Given the description of an element on the screen output the (x, y) to click on. 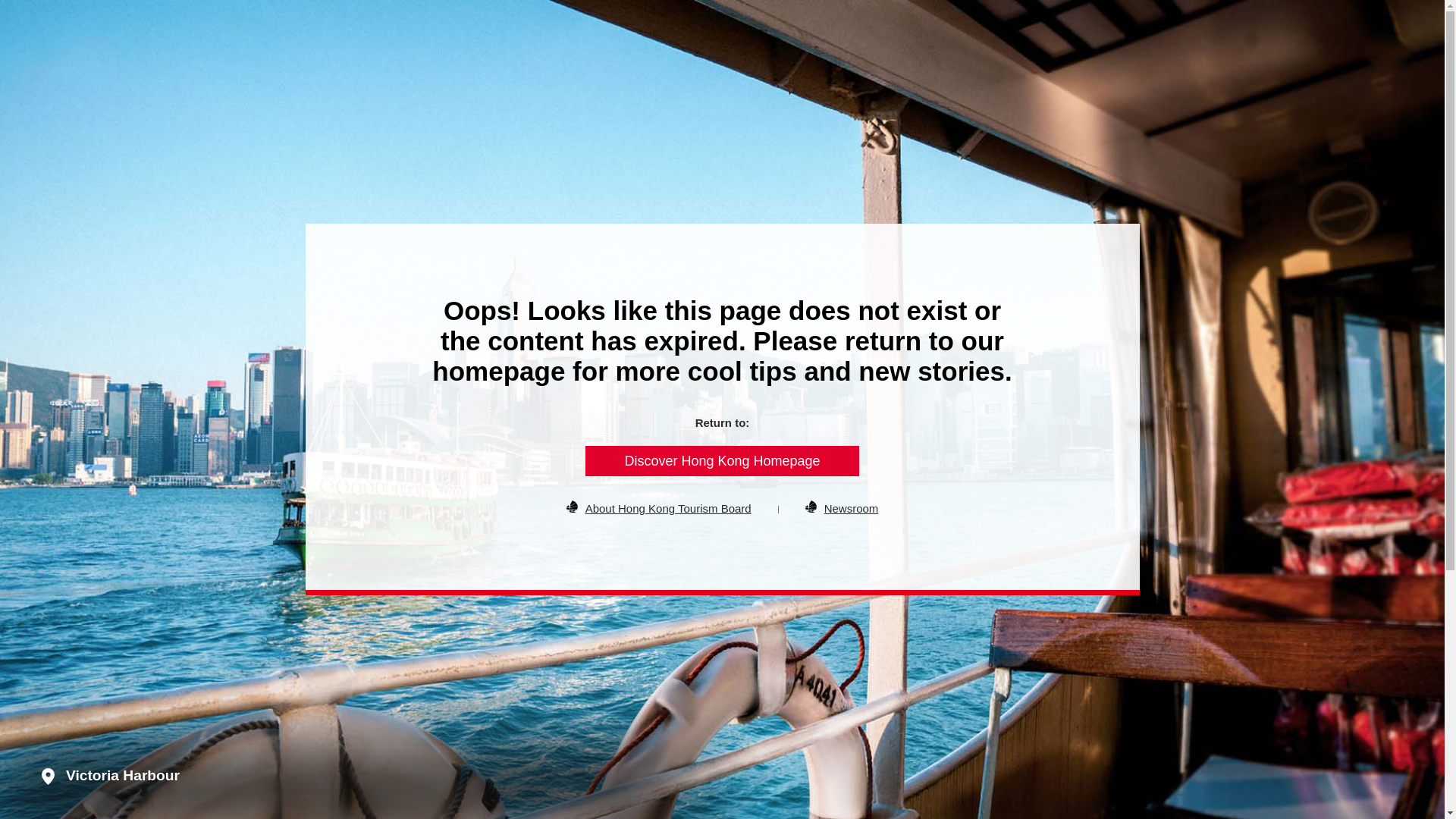
About Hong Kong Tourism Board (668, 508)
Discover Hong Kong Homepage (722, 460)
Newsroom (851, 508)
